Given the description of an element on the screen output the (x, y) to click on. 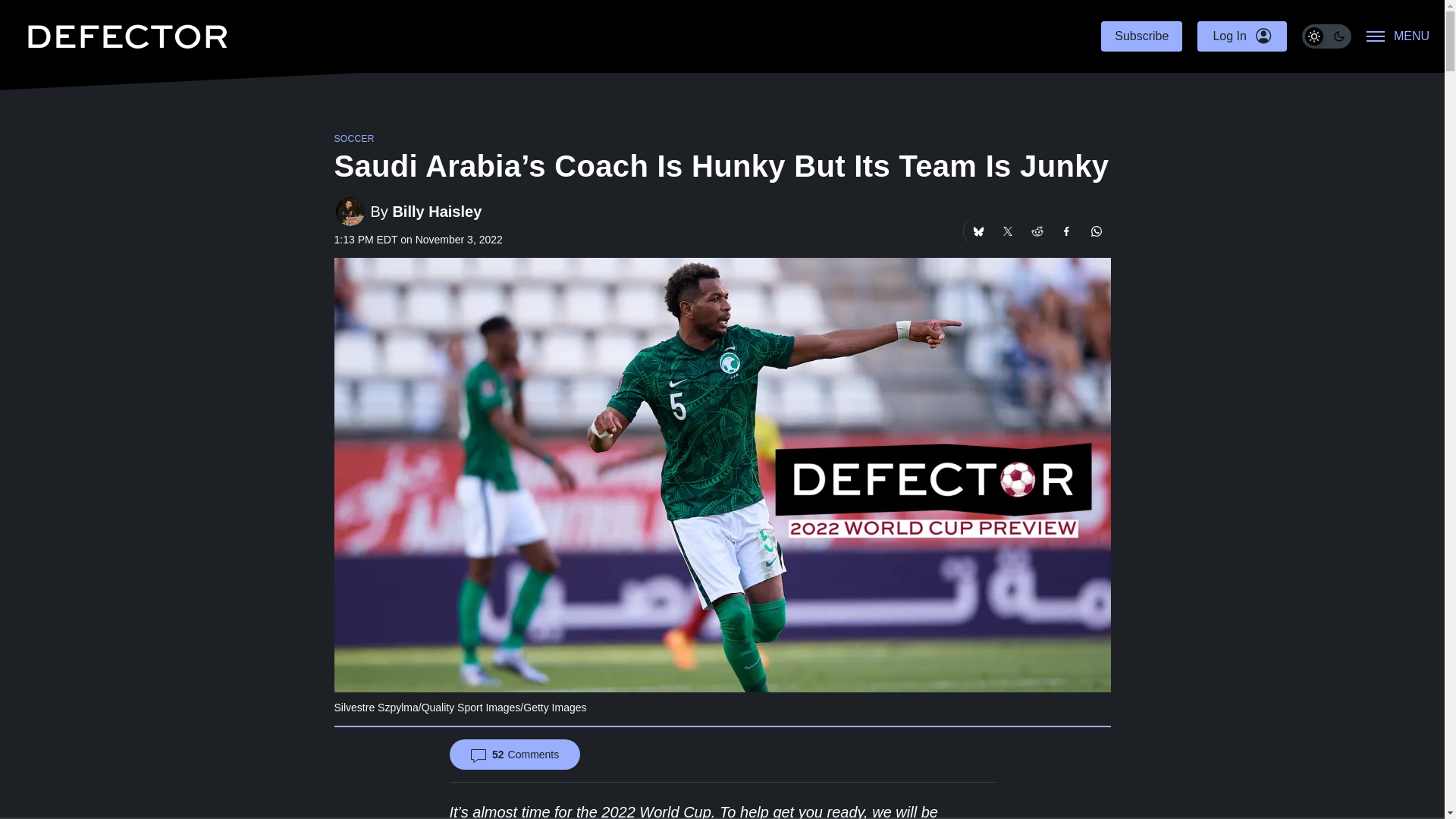
Share on Bluesky (976, 231)
Share on Facebook (1066, 231)
Share on Reddit (1036, 231)
Subscribe (1141, 36)
Billy Haisley (436, 211)
SOCCER (353, 138)
Log In (1240, 36)
MENU (1398, 36)
